Given the description of an element on the screen output the (x, y) to click on. 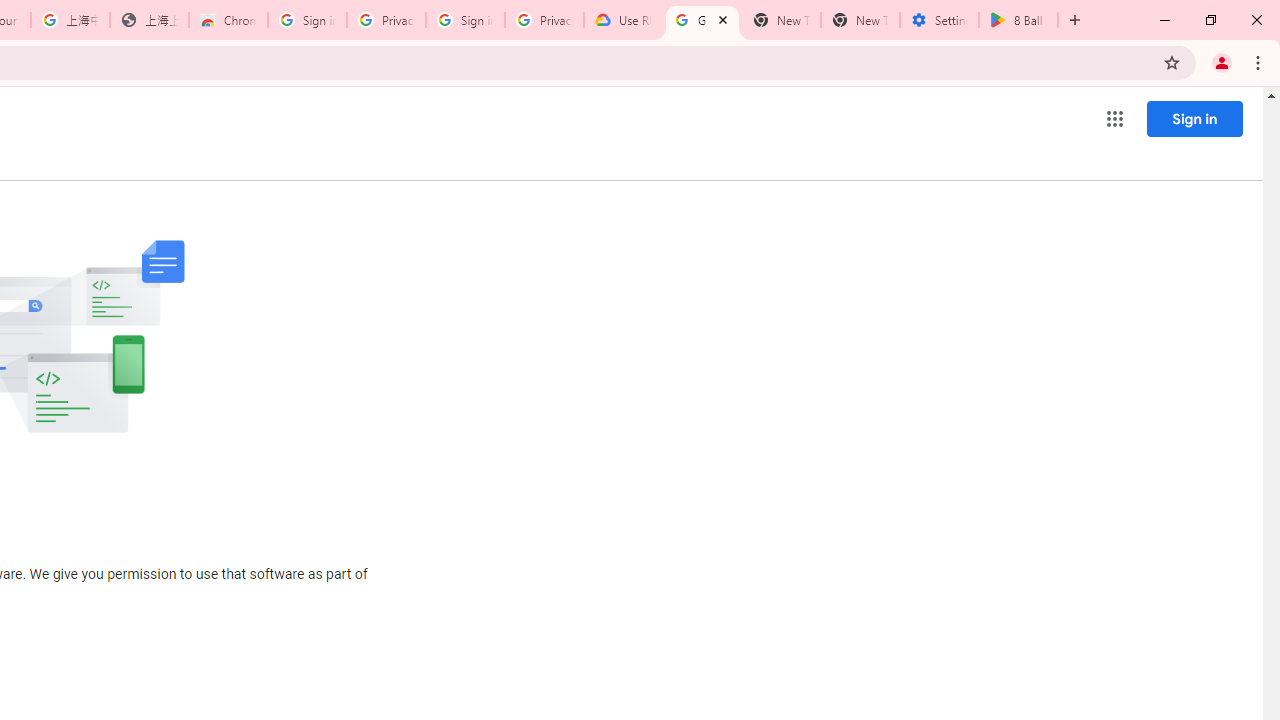
Sign in - Google Accounts (465, 20)
8 Ball Pool - Apps on Google Play (1018, 20)
Chrome Web Store - Color themes by Chrome (228, 20)
